Given the description of an element on the screen output the (x, y) to click on. 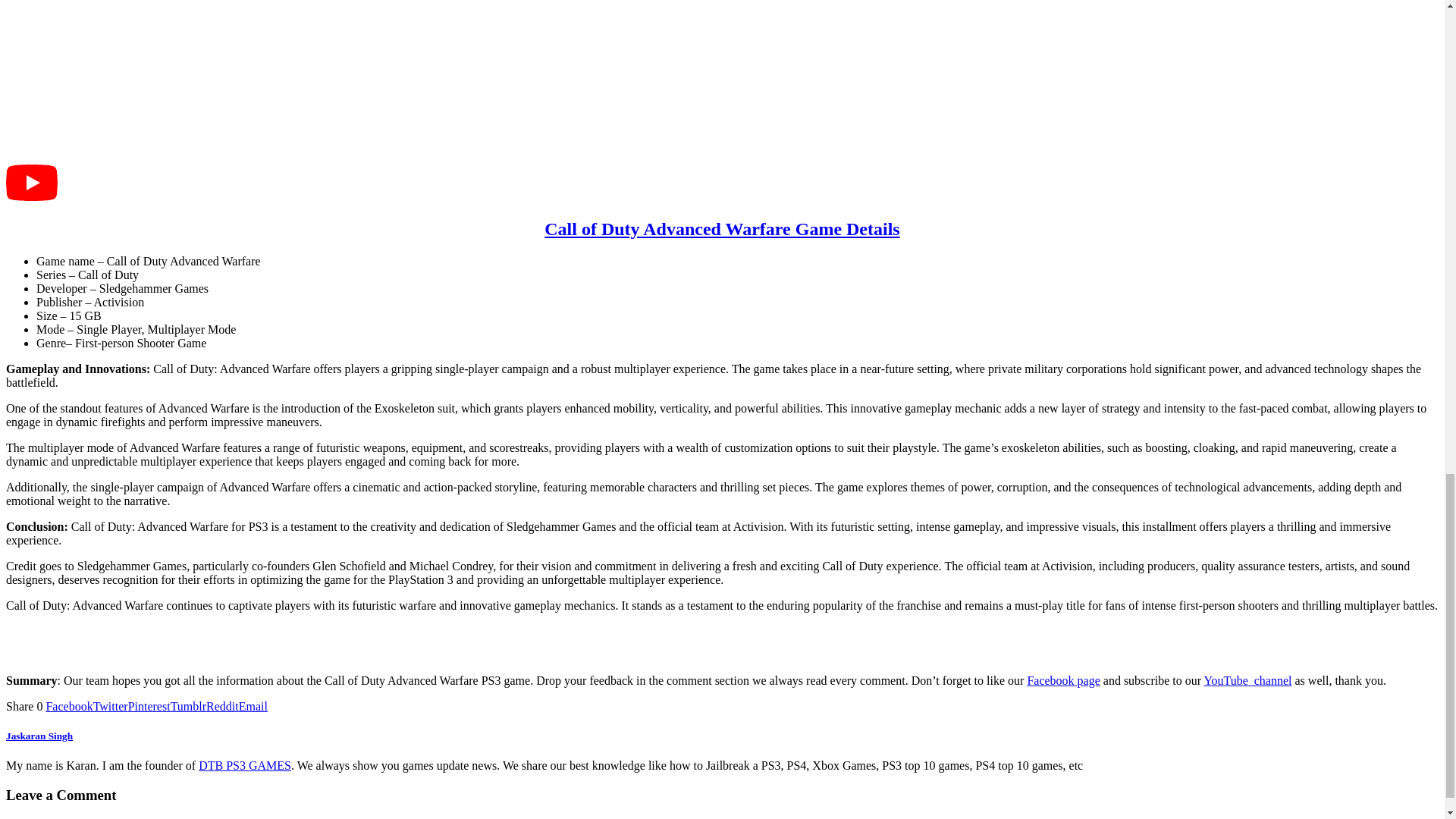
DTB PS3 GAMES (244, 765)
Jaskaran Singh (38, 736)
Tumblr (188, 706)
Pinterest (149, 706)
Facebook (69, 706)
Email (252, 706)
Twitter (110, 706)
Reddit (222, 706)
Call of Duty Advanced Warfare Game Details (721, 229)
